Given the description of an element on the screen output the (x, y) to click on. 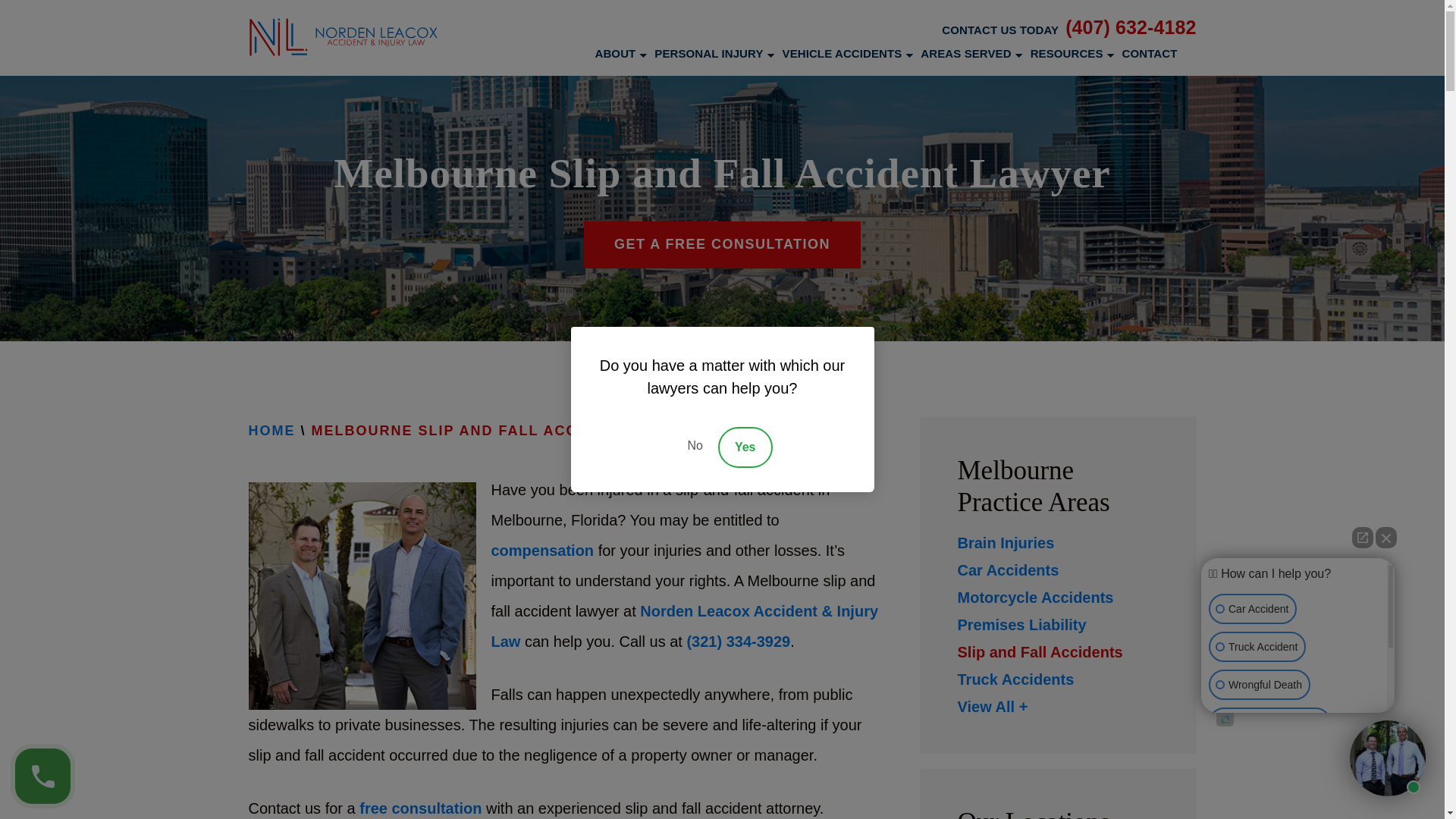
GET A FREE CONSULTATION (721, 244)
VEHICLE ACCIDENTS (842, 52)
RESOURCES (1066, 52)
ABOUT (614, 52)
AREAS SERVED (965, 52)
CONTACT (1149, 52)
HOME (271, 431)
GET A FREE CONSULTATION (721, 244)
PERSONAL INJURY (707, 52)
